Given the description of an element on the screen output the (x, y) to click on. 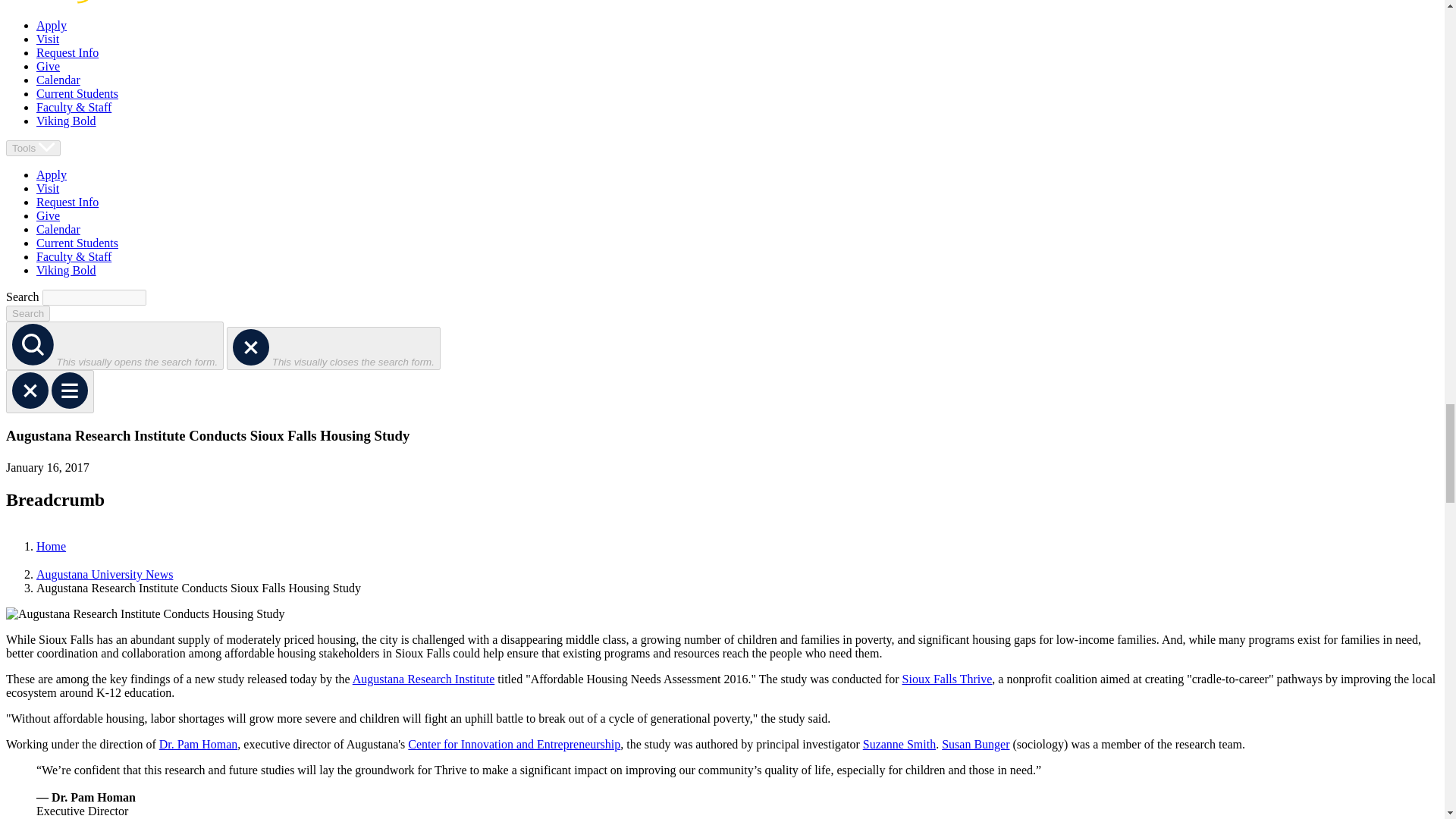
Search (27, 313)
Search (27, 313)
Enter the terms you wish to search for. (94, 297)
